Given the description of an element on the screen output the (x, y) to click on. 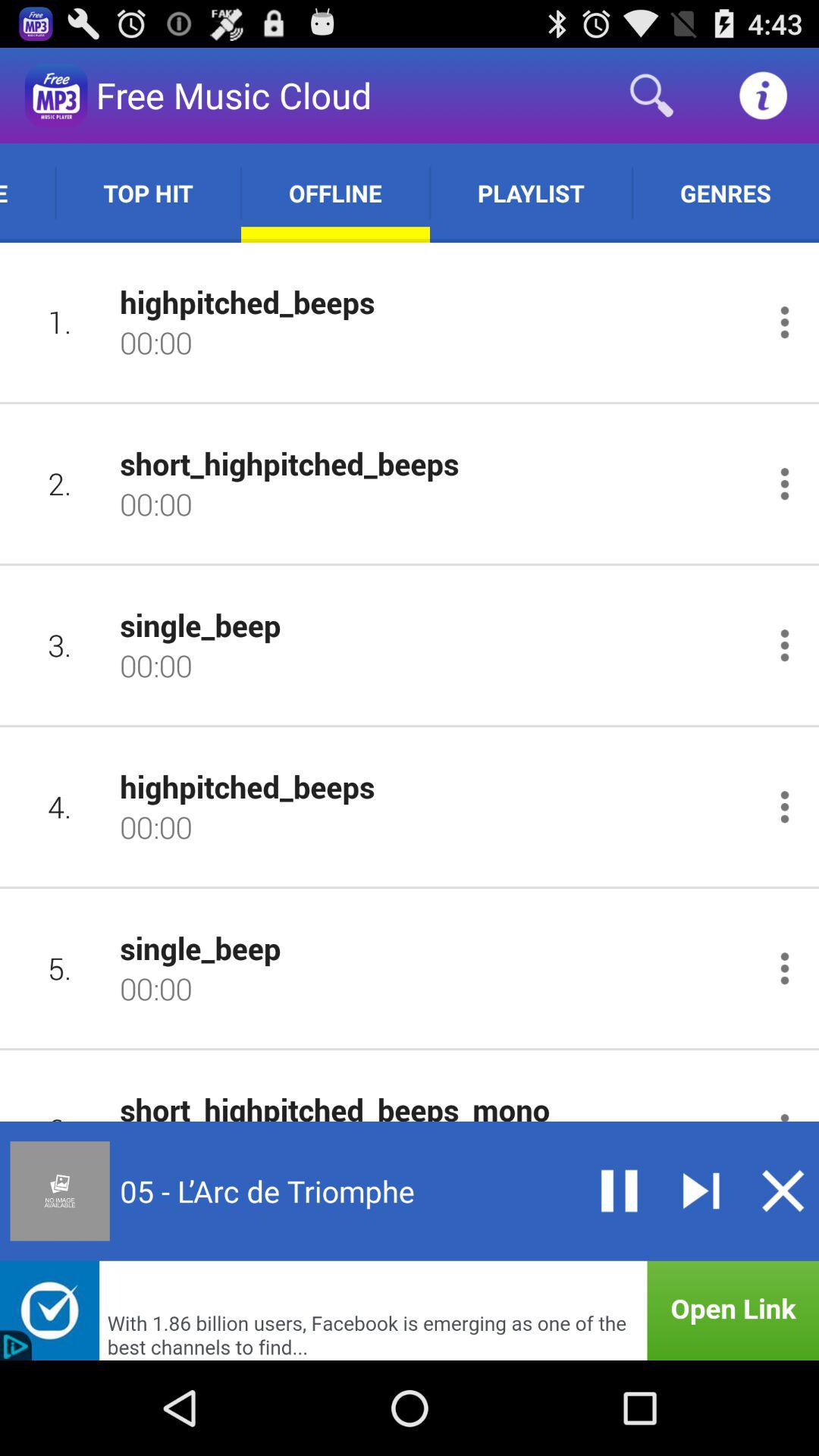
turn off the app next to the online (148, 192)
